Given the description of an element on the screen output the (x, y) to click on. 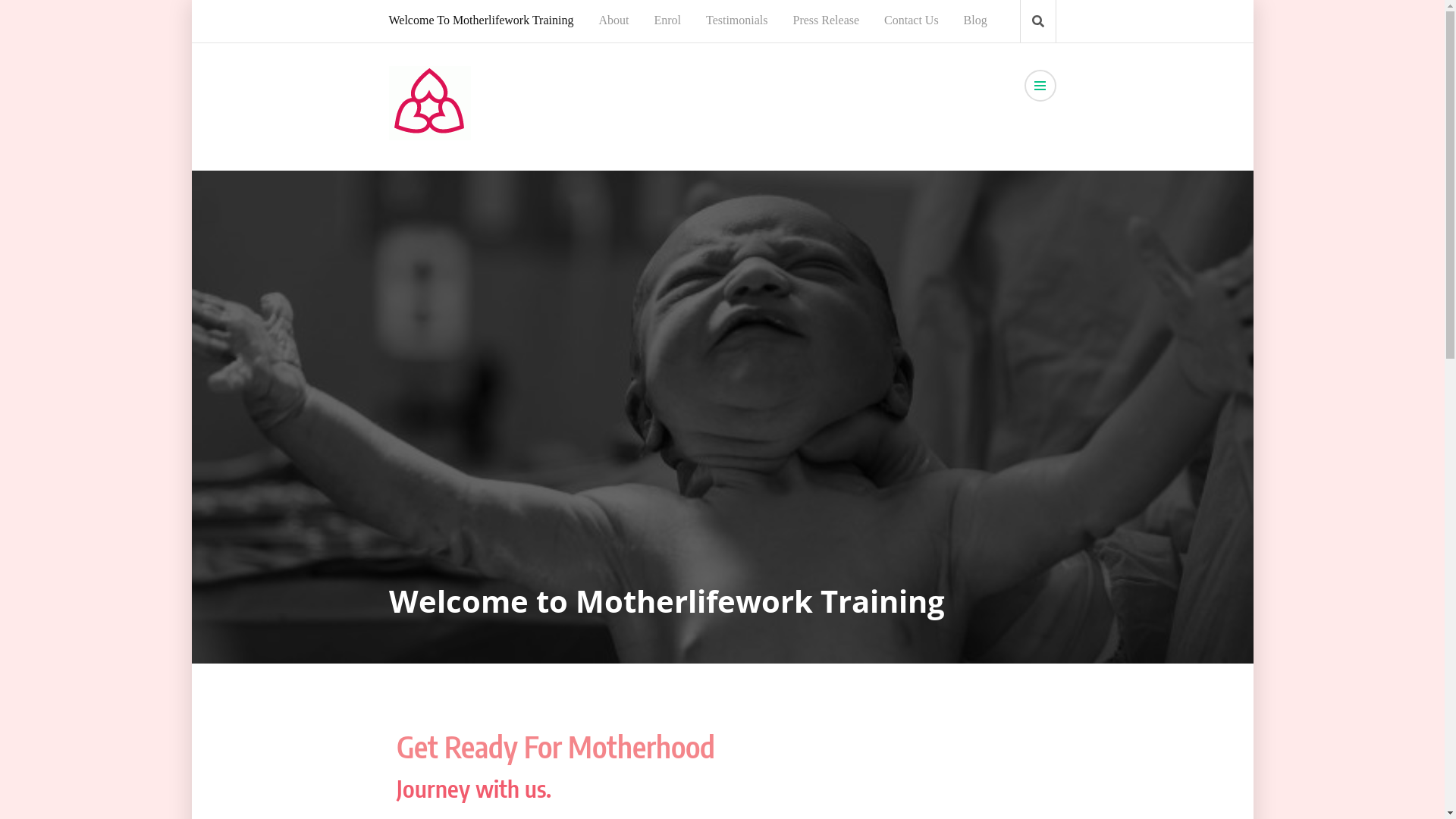
Motherlifework Training Element type: text (528, 167)
Enrol Element type: text (667, 20)
Blog Element type: text (975, 20)
Press Release Element type: text (826, 20)
Contact Us Element type: text (911, 20)
Testimonials Element type: text (736, 20)
About Element type: text (613, 20)
Welcome To Motherlifework Training Element type: text (485, 20)
Journey with us. Element type: text (472, 788)
